Given the description of an element on the screen output the (x, y) to click on. 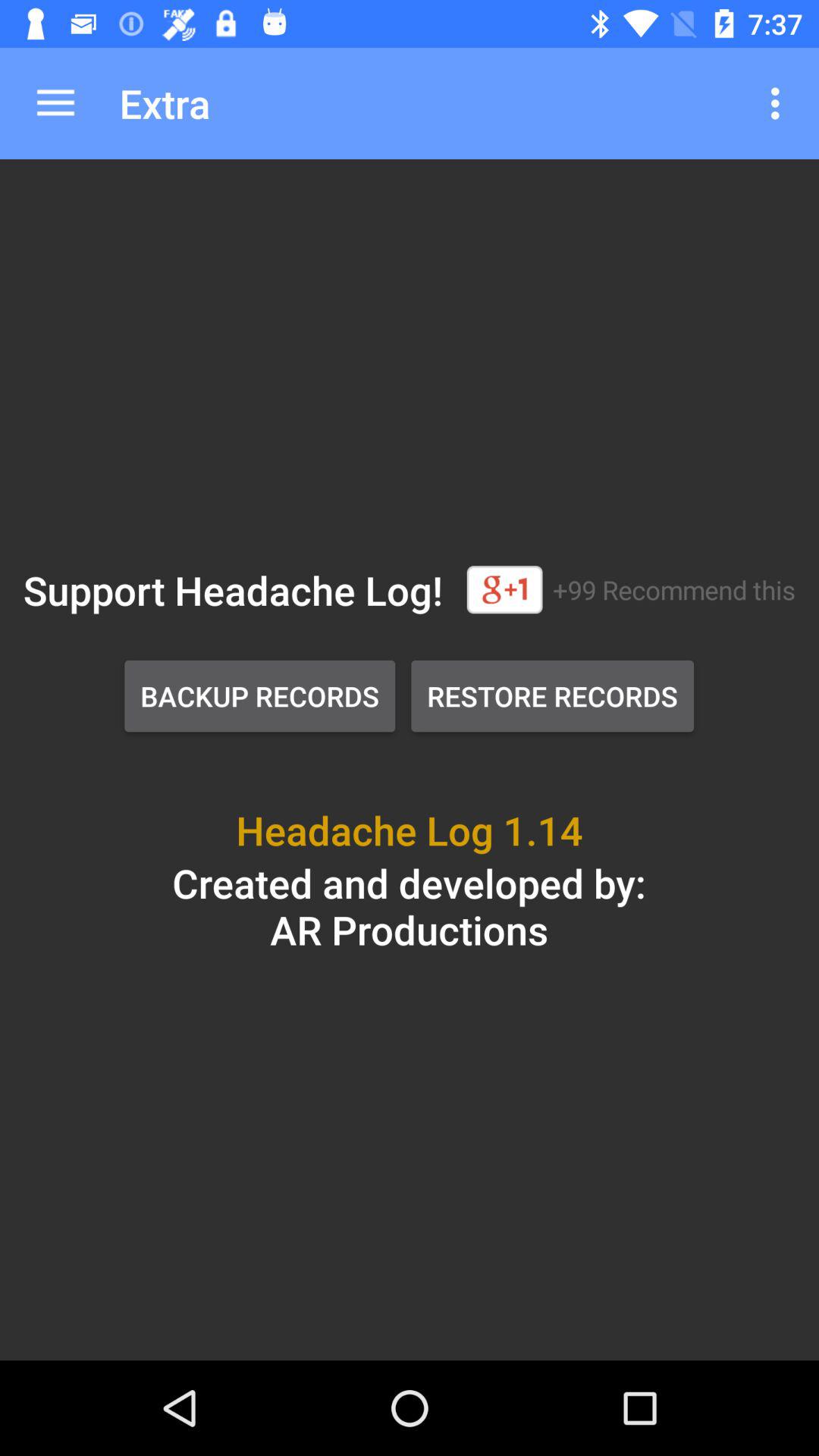
turn off icon to the left of extra (55, 103)
